Given the description of an element on the screen output the (x, y) to click on. 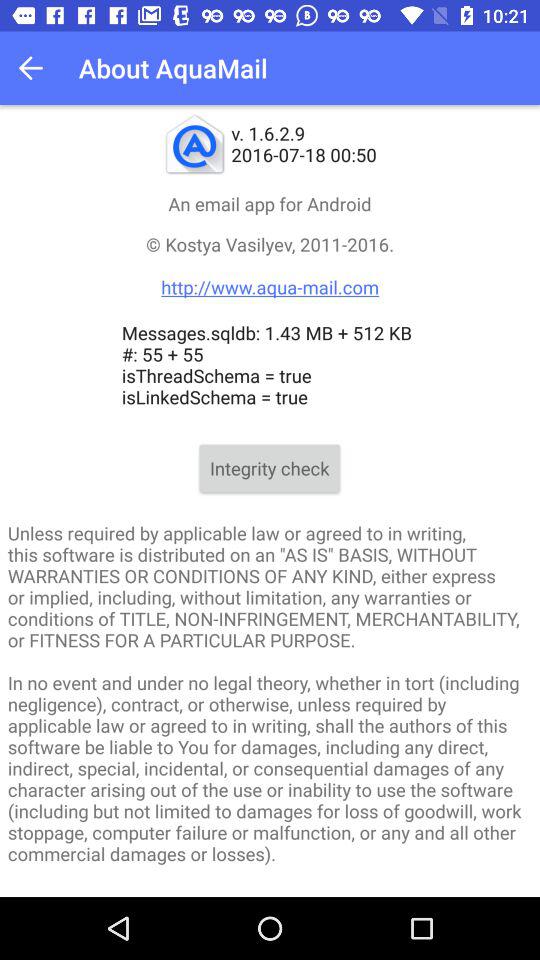
tap the kostya vasilyev 2011 icon (269, 265)
